Given the description of an element on the screen output the (x, y) to click on. 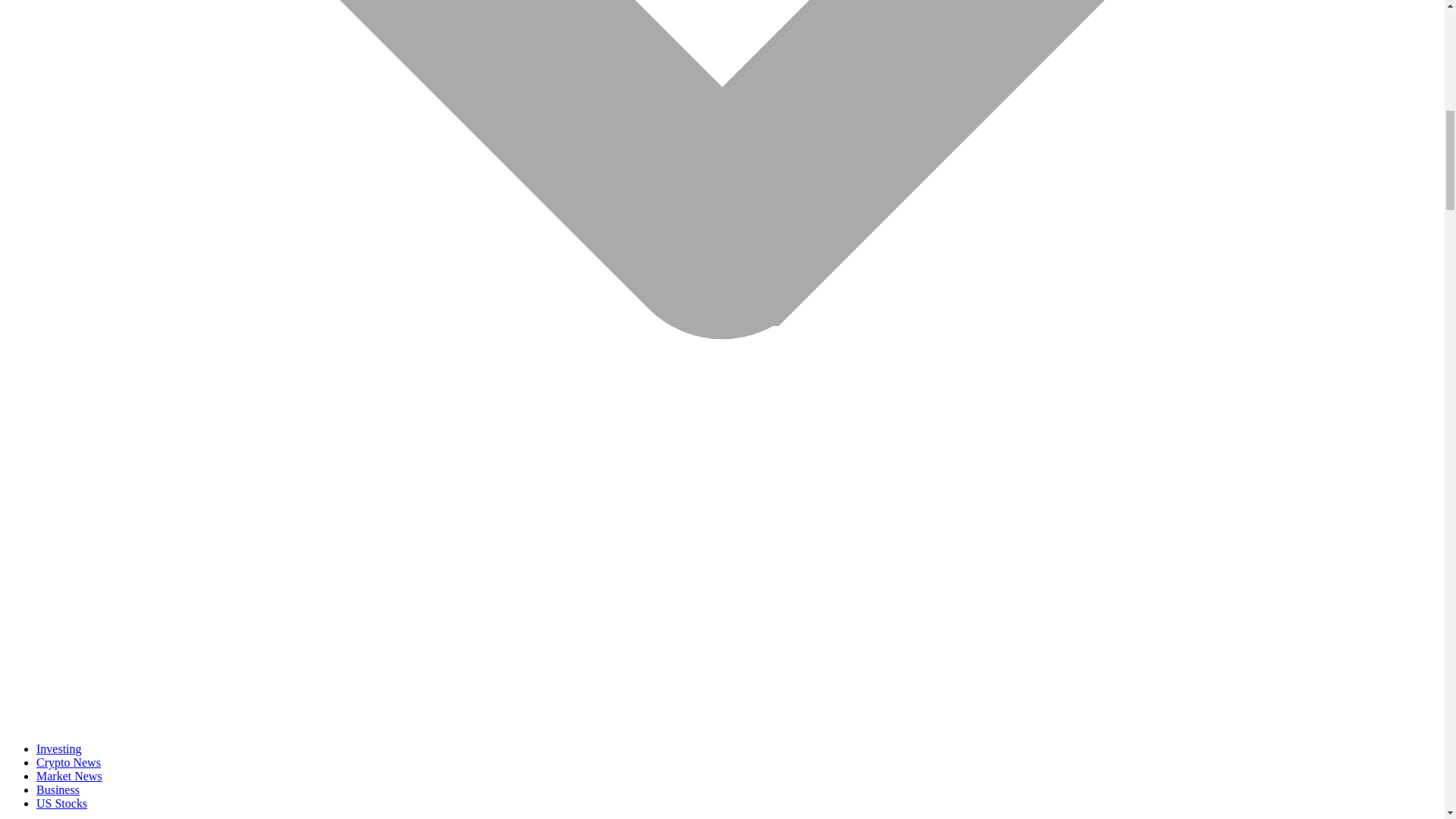
Investing (58, 748)
Business (58, 789)
US Stocks (61, 802)
Market News (68, 775)
Crypto News (68, 762)
